Given the description of an element on the screen output the (x, y) to click on. 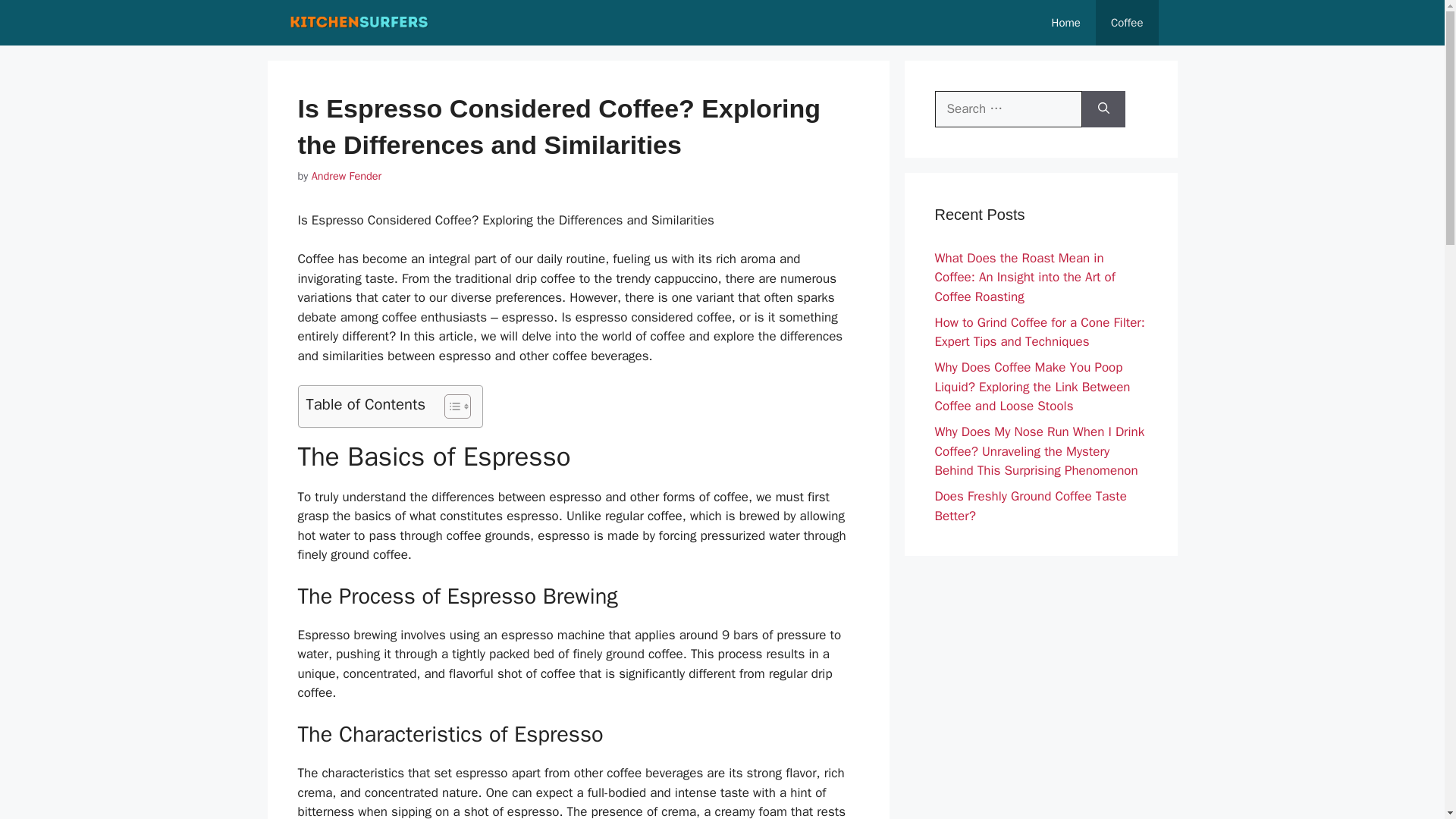
View all posts by Andrew Fender (346, 175)
Does Freshly Ground Coffee Taste Better? (1029, 506)
Coffee (1127, 22)
Home (1066, 22)
KitchenSurfers (359, 22)
Andrew Fender (346, 175)
